Given the description of an element on the screen output the (x, y) to click on. 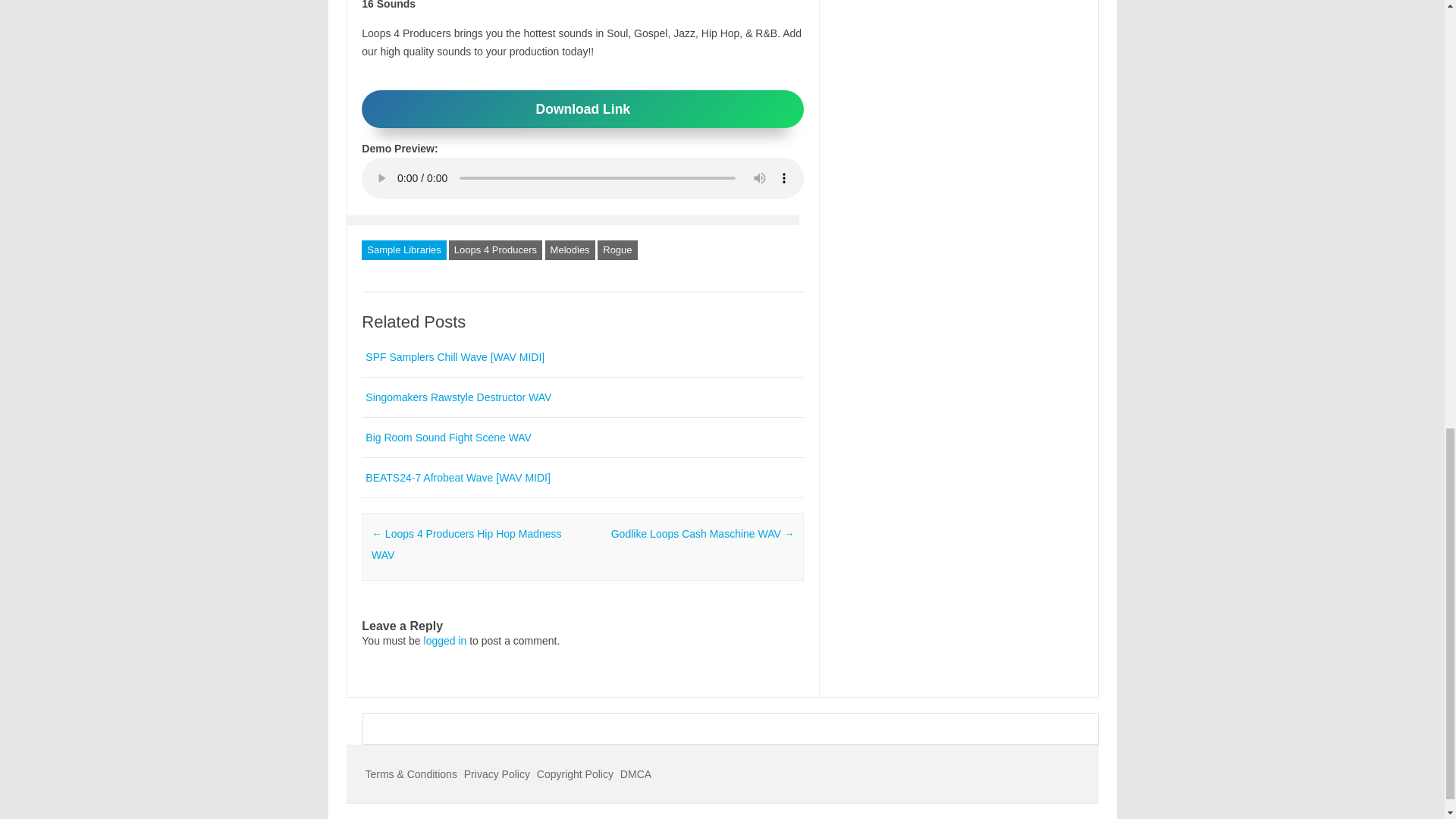
DMCA (635, 774)
Sample Libraries (403, 250)
Melodies (569, 250)
Singomakers Rawstyle Destructor WAV (458, 397)
Privacy Policy (496, 774)
Big Room Sound Fight Scene WAV (448, 437)
logged in (445, 640)
Big Room Sound Fight Scene WAV (448, 437)
Singomakers Rawstyle Destructor WAV (458, 397)
Loops 4 Producers (494, 250)
Rogue (616, 250)
Copyright Policy (574, 774)
